Given the description of an element on the screen output the (x, y) to click on. 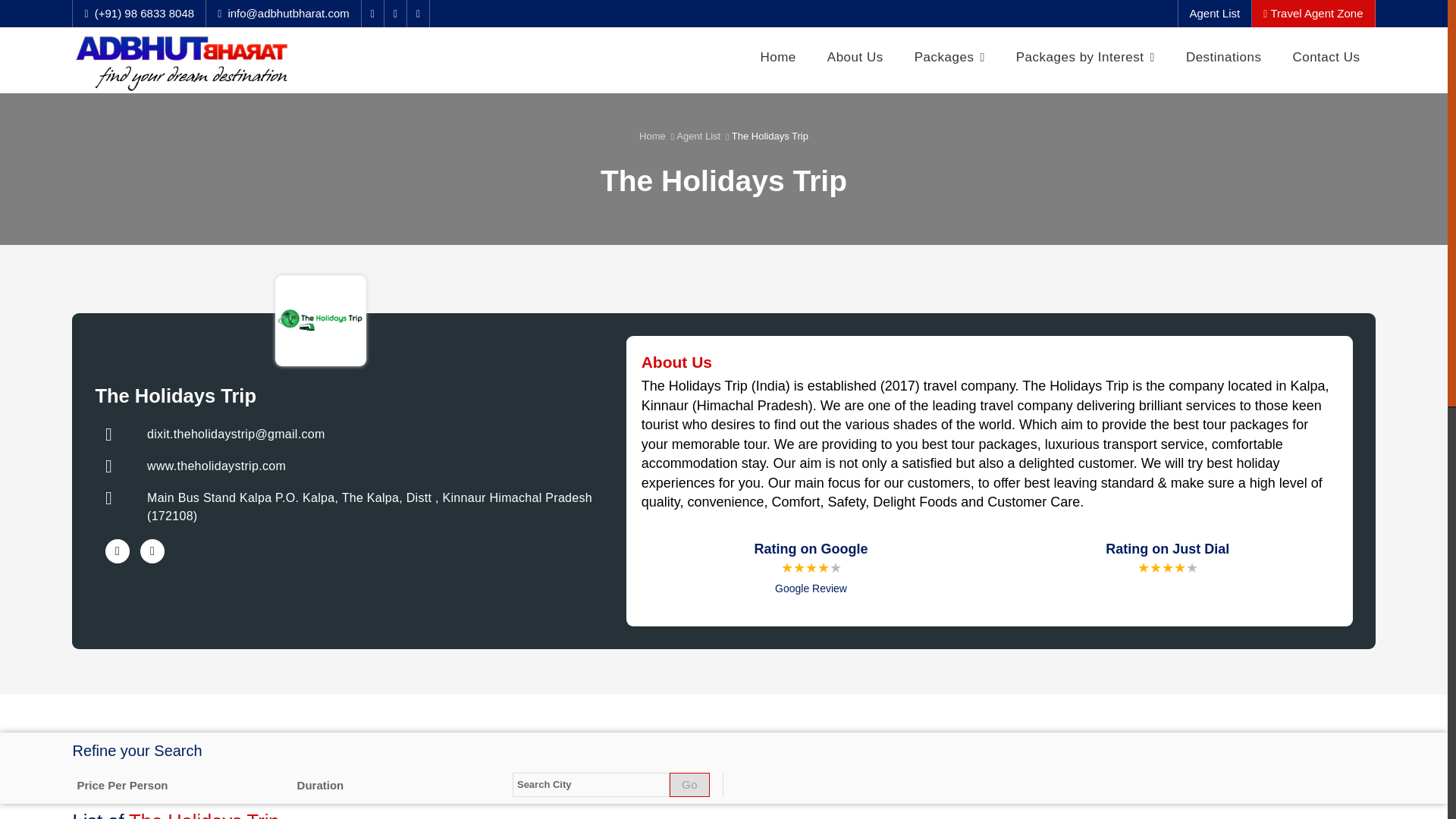
Contact Us (1325, 57)
Packages by Interest (1085, 57)
Adbhut Bharat (181, 63)
Home (777, 57)
Home (777, 57)
Packages (949, 57)
Contact Us (1325, 57)
Packages by Interest (1085, 57)
Adbhut Bharat (228, 60)
Agent List (1214, 13)
